Given the description of an element on the screen output the (x, y) to click on. 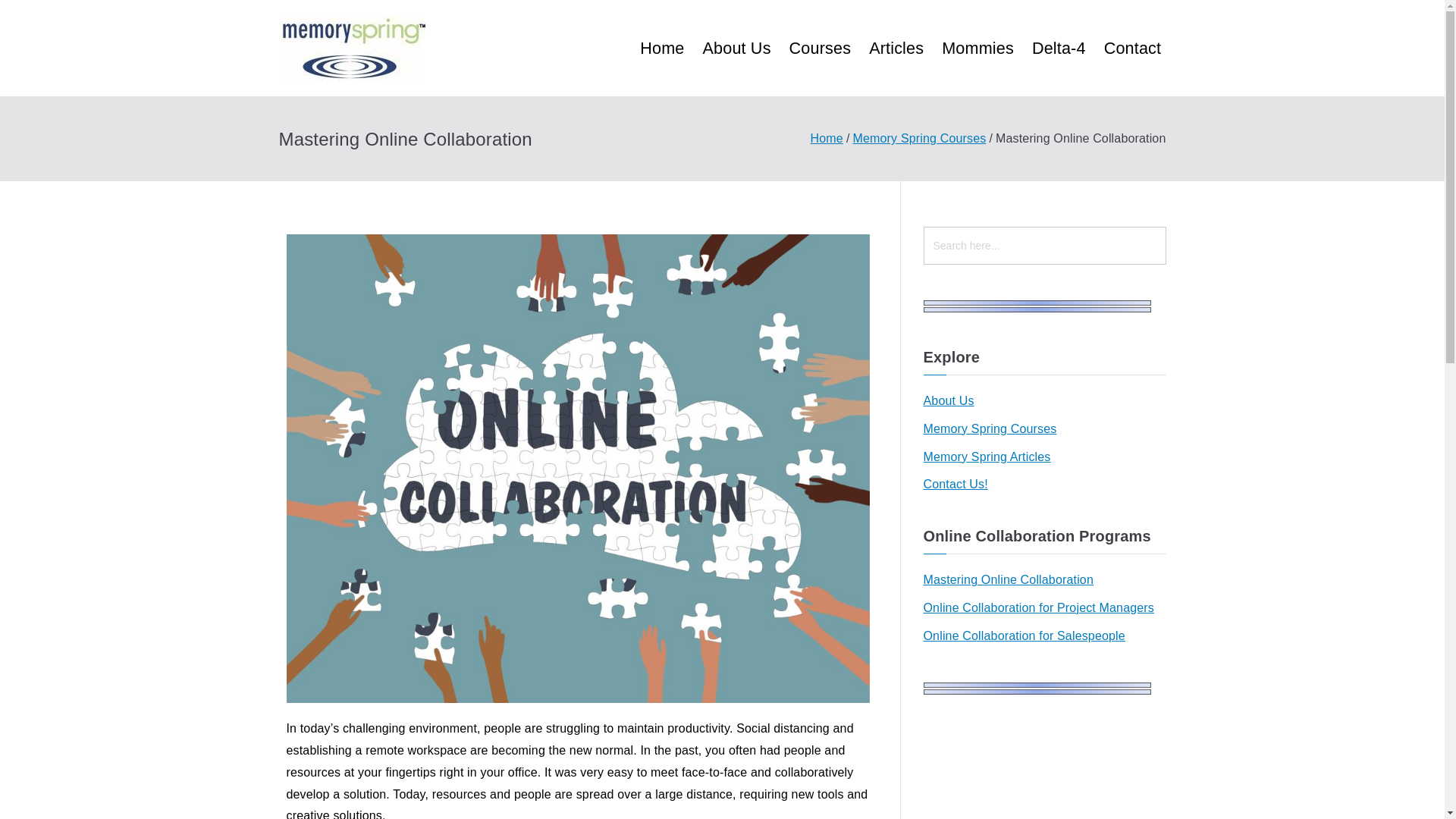
Online Collaboration for Project Managers (1038, 608)
Contact Us! (955, 485)
Memory Spring Courses (920, 137)
Articles (896, 47)
Memory Spring Courses (990, 429)
Memory Spring Articles (987, 457)
About Us (735, 47)
Mastering Online Collaboration (1008, 580)
Courses (820, 47)
Memory Spring (550, 68)
